Given the description of an element on the screen output the (x, y) to click on. 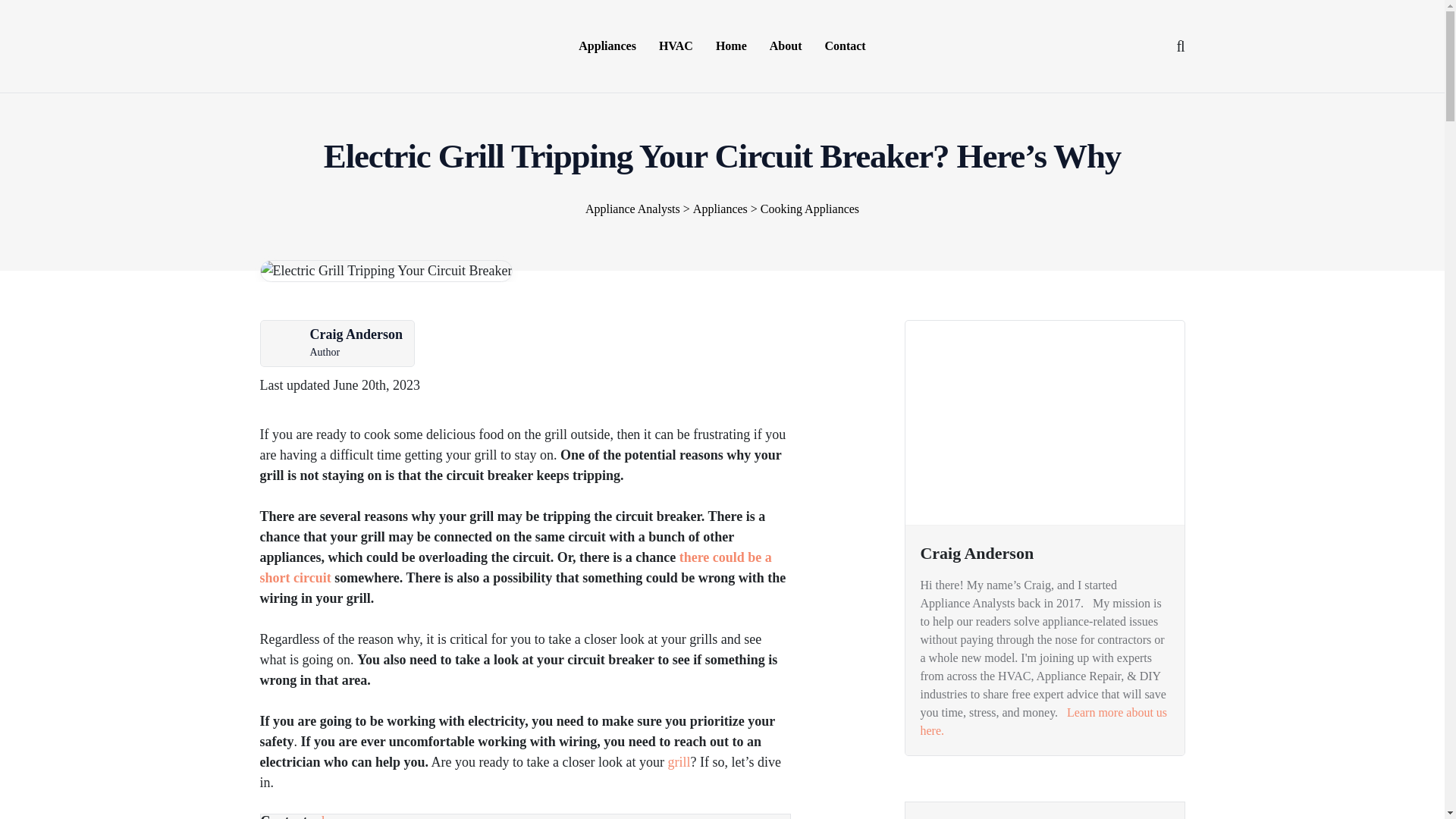
Appliance Analysts (315, 44)
HVAC (675, 45)
Appliances (607, 45)
